Given the description of an element on the screen output the (x, y) to click on. 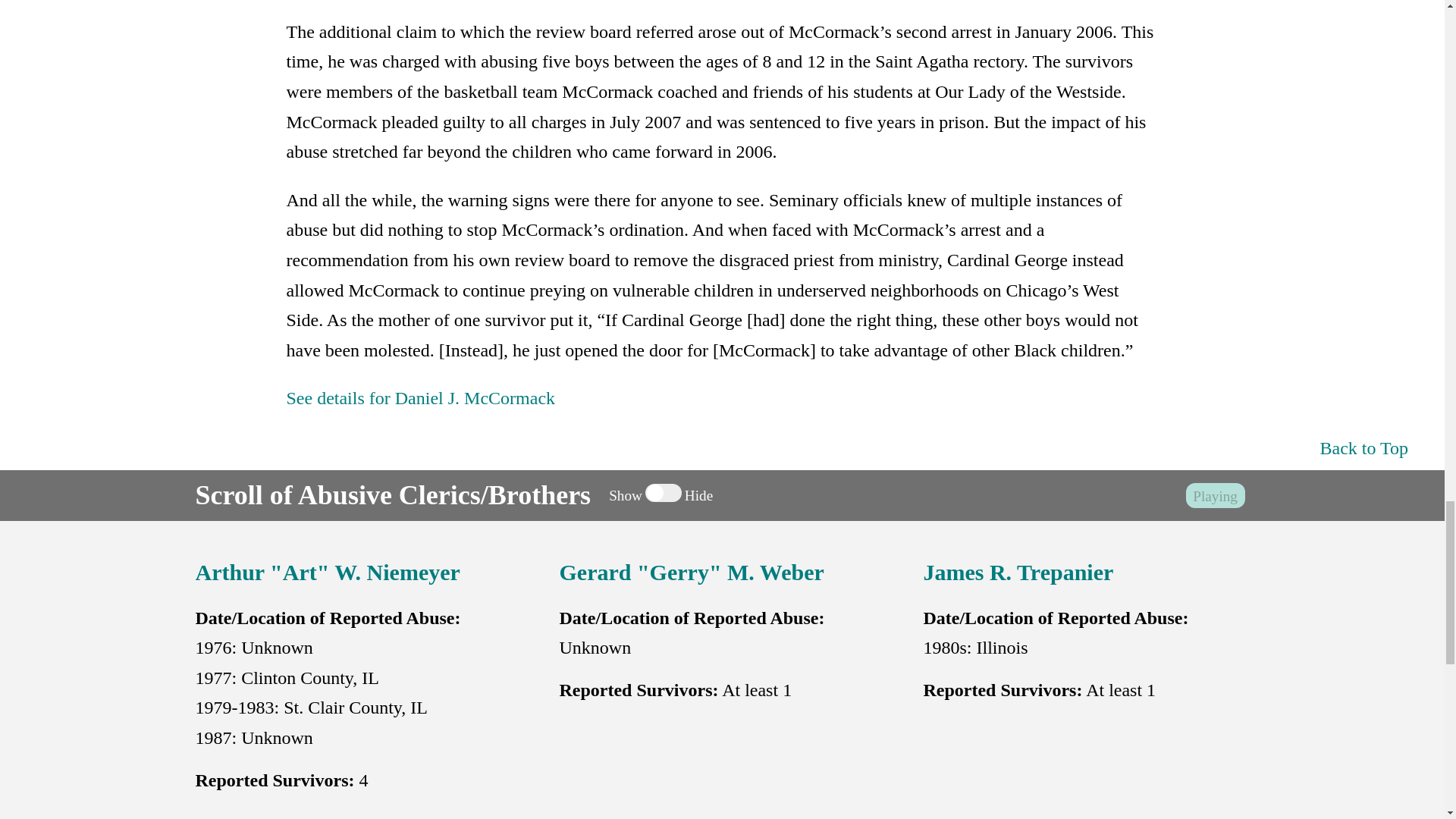
James R. Trepanier (1018, 571)
Arthur "Art" W. Niemeyer (327, 571)
Playing (1214, 495)
See details for Daniel J. McCormack (419, 397)
Gerard "Gerry" M. Weber (691, 571)
Toggle clergy callout (663, 493)
